Given the description of an element on the screen output the (x, y) to click on. 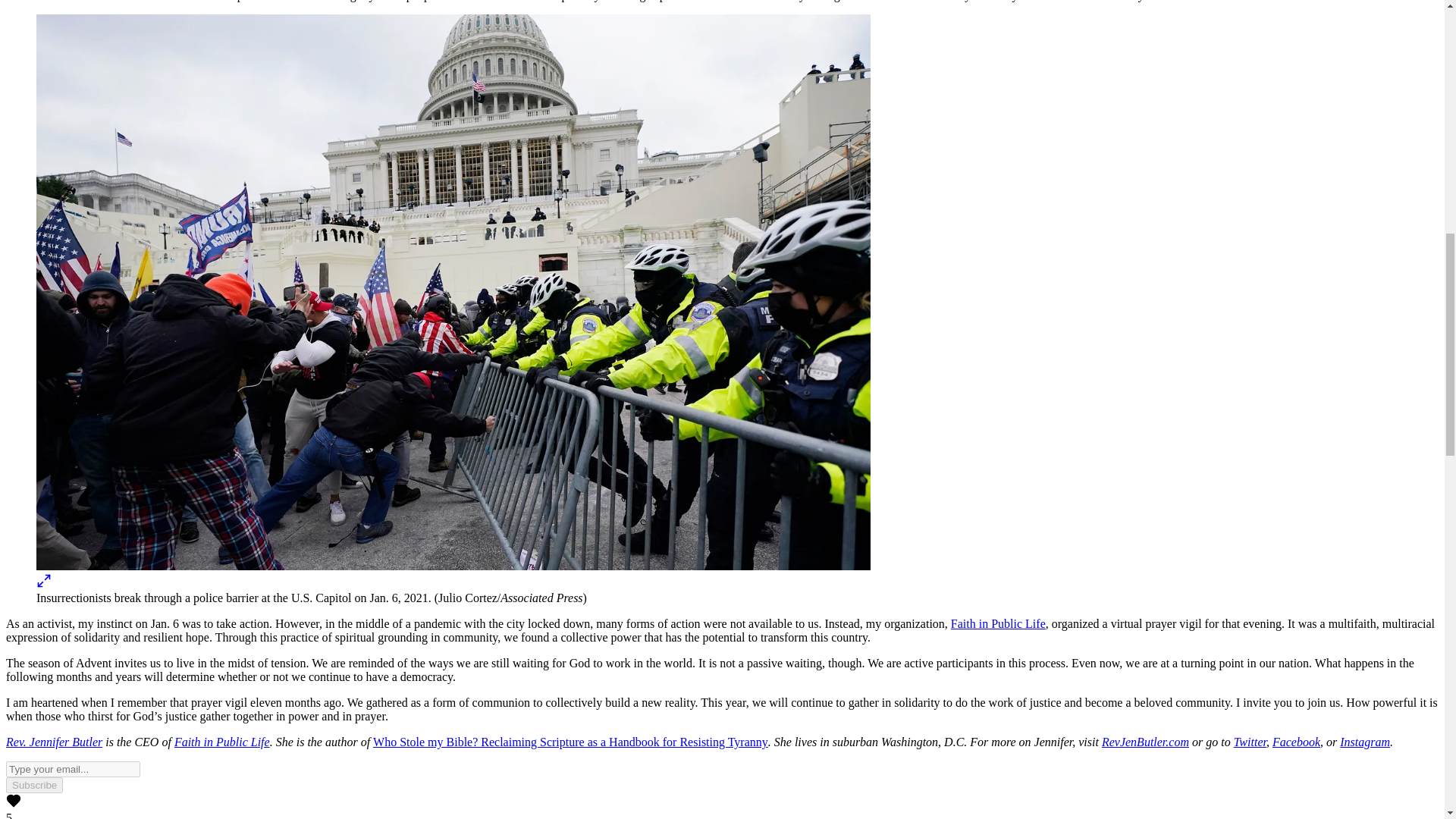
Twitter (1249, 741)
Subscribe (33, 785)
Facebook (1296, 741)
RevJenButler.com (1145, 741)
Instagram (1364, 741)
Rev. Jennifer Butler (53, 741)
Faith in Public Life (997, 623)
Faith in Public Life (221, 741)
